Given the description of an element on the screen output the (x, y) to click on. 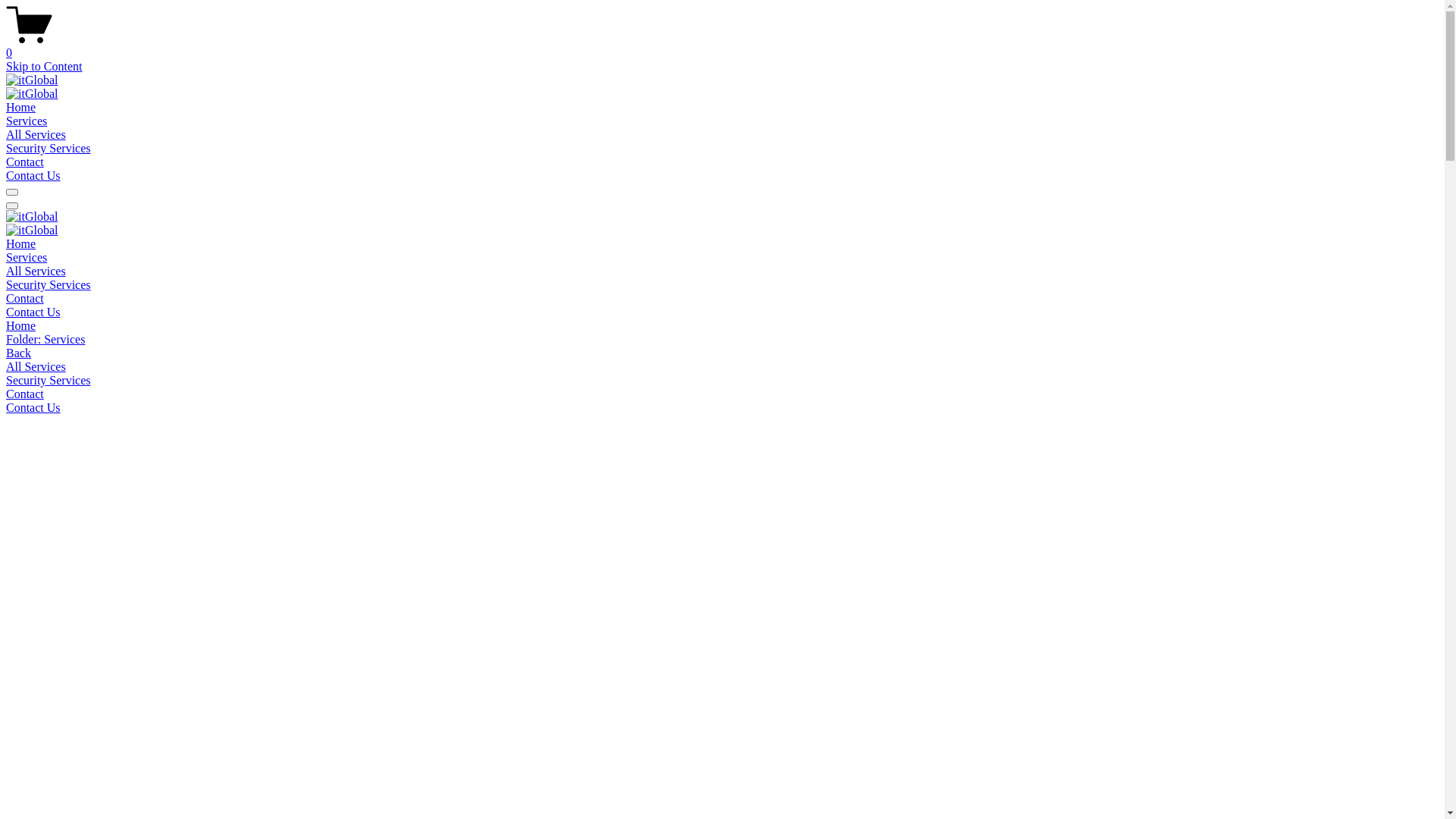
Skip to Content Element type: text (43, 65)
Back Element type: text (18, 352)
Contact Element type: text (24, 297)
Contact Element type: text (24, 161)
Contact Us Element type: text (33, 311)
All Services Element type: text (35, 134)
All Services Element type: text (722, 366)
Home Element type: text (722, 325)
Home Element type: text (20, 106)
Services Element type: text (26, 257)
All Services Element type: text (35, 270)
Security Services Element type: text (722, 380)
Security Services Element type: text (48, 284)
Contact Us Element type: text (33, 407)
Contact Us Element type: text (33, 175)
Contact Element type: text (722, 394)
Security Services Element type: text (48, 147)
Services Element type: text (26, 120)
Home Element type: text (20, 243)
0 Element type: text (722, 45)
Folder: Services Element type: text (722, 339)
